Given the description of an element on the screen output the (x, y) to click on. 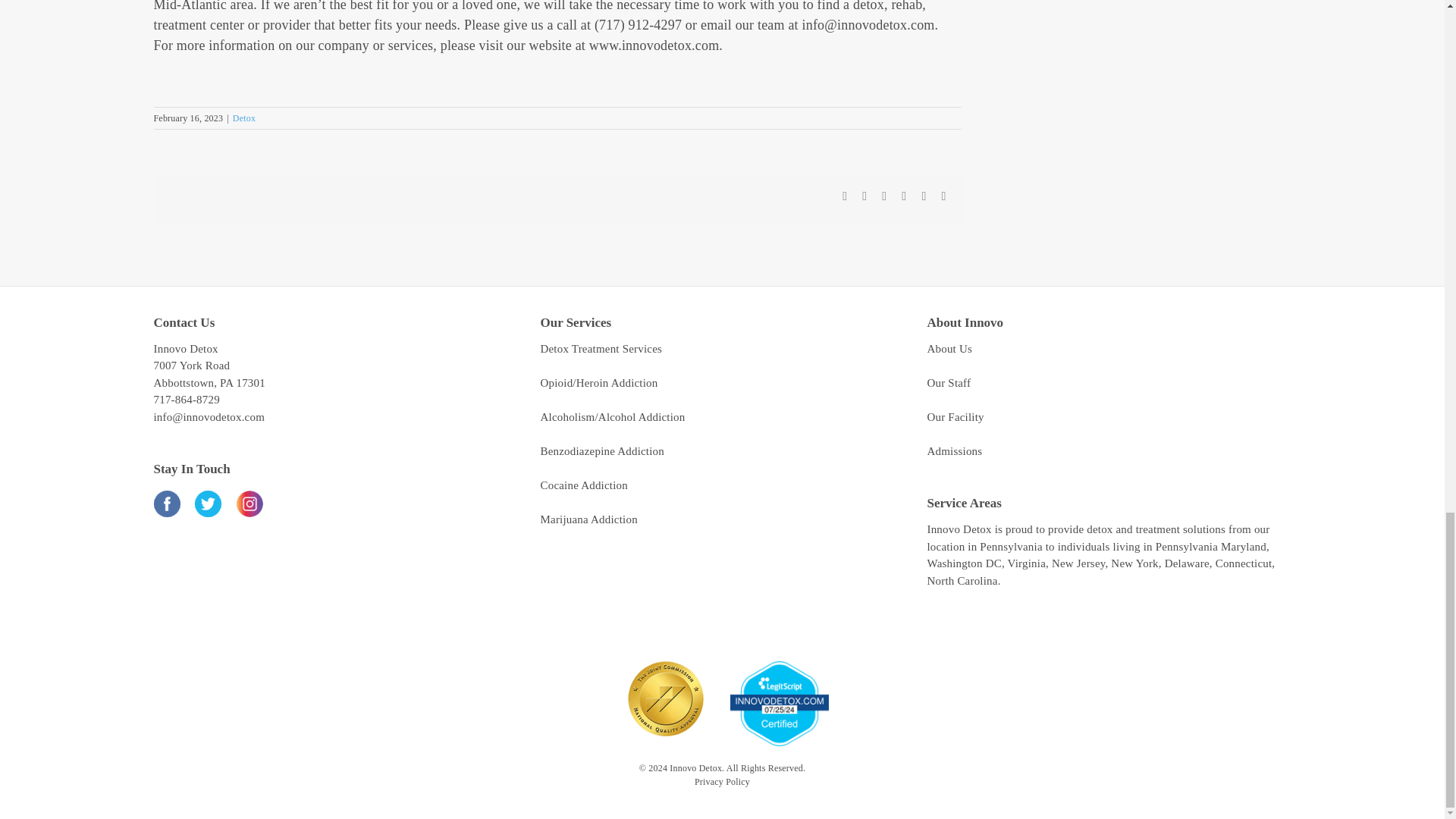
Detox (244, 118)
Verify LegitScript Approval (778, 667)
